Given the description of an element on the screen output the (x, y) to click on. 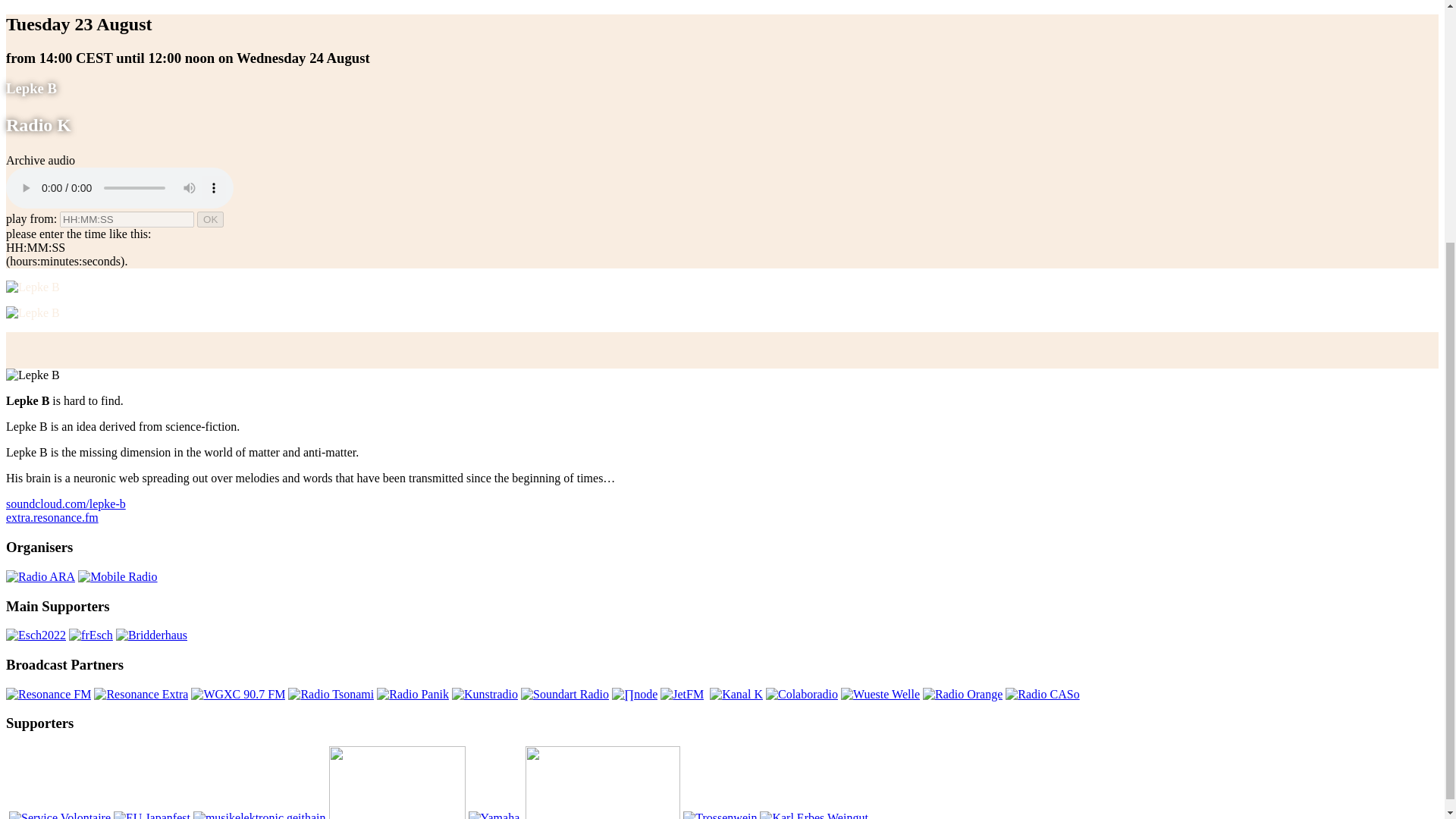
Lepke B (65, 503)
Lepke B (52, 517)
OK (210, 219)
extra.resonance.fm (52, 517)
